Given the description of an element on the screen output the (x, y) to click on. 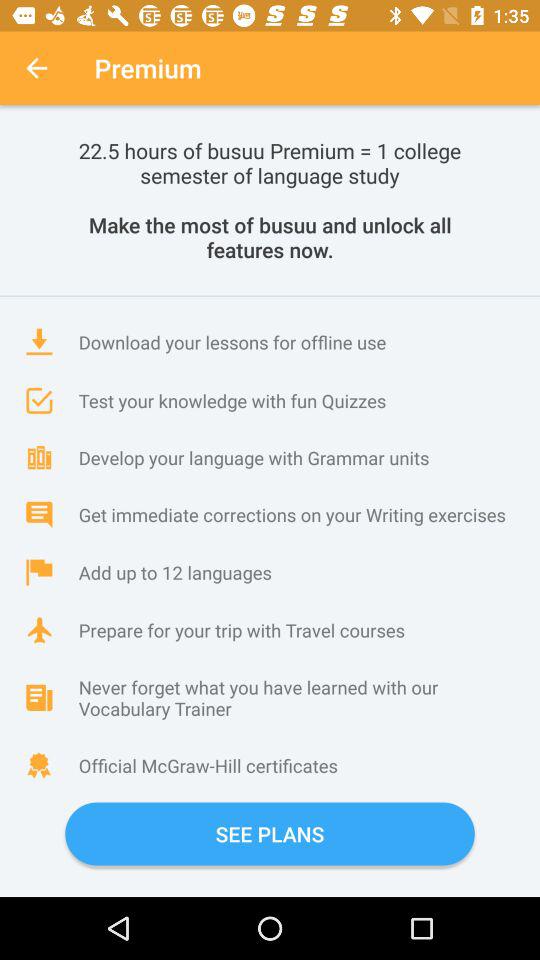
turn off see plans icon (269, 833)
